Given the description of an element on the screen output the (x, y) to click on. 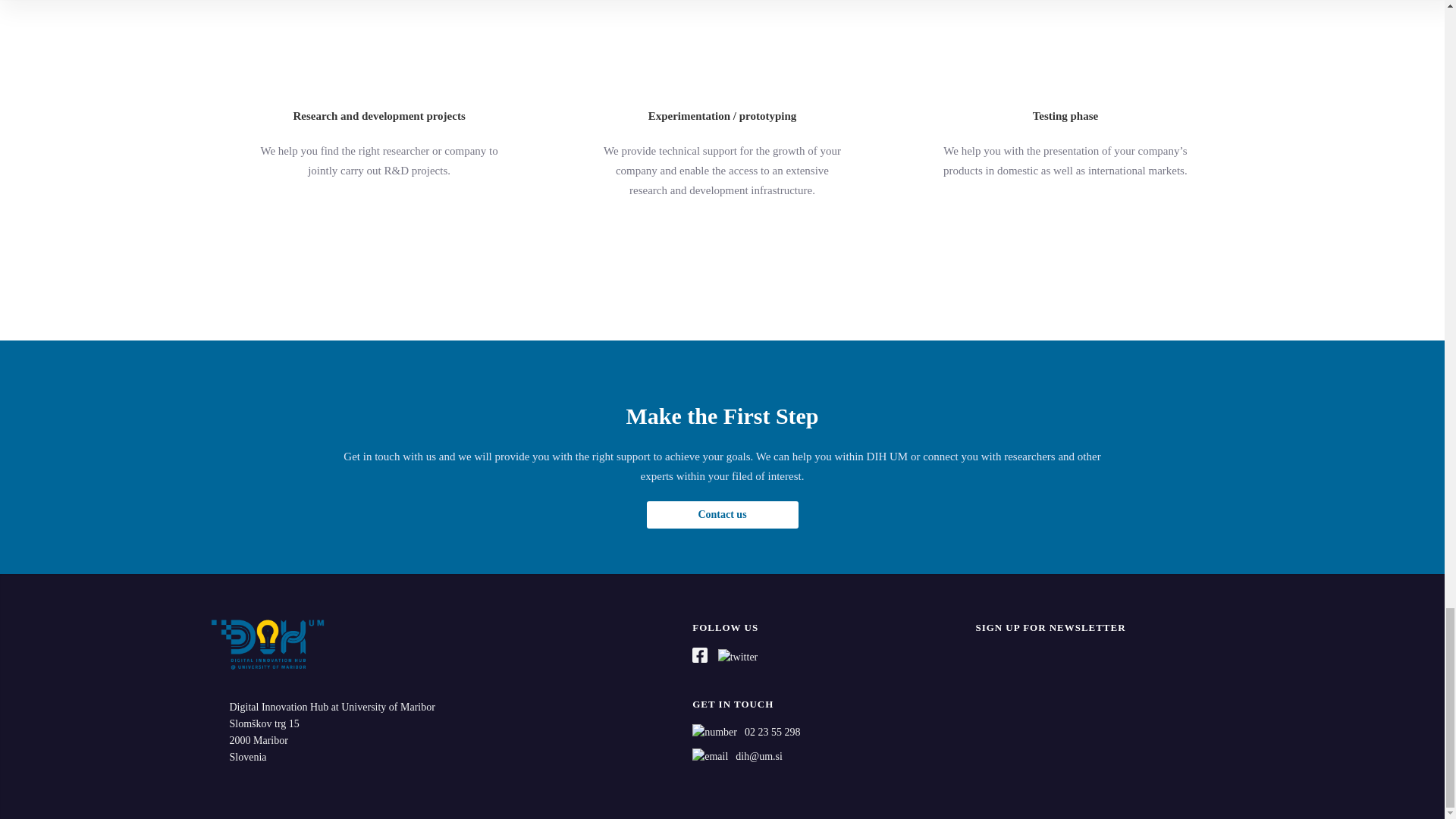
02 23 55 298 (746, 731)
Contact us (721, 514)
